Given the description of an element on the screen output the (x, y) to click on. 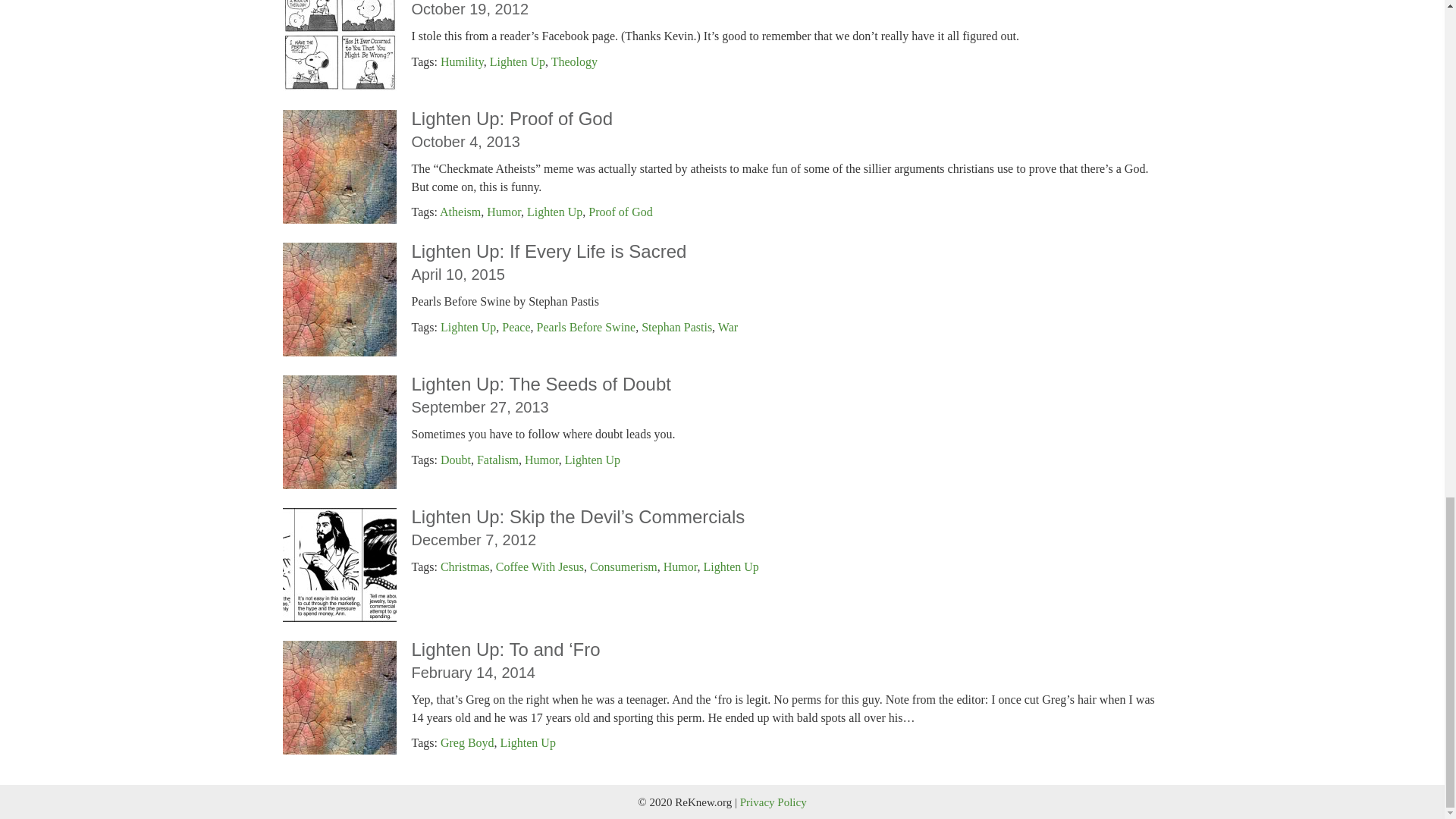
Humor (541, 459)
Greg Boyd (468, 742)
Stephan Pastis (676, 327)
Atheism (459, 211)
Lighten Up (730, 566)
Doubt (455, 459)
Theology (573, 61)
Consumerism (623, 566)
Lighten Up (468, 327)
Lighten Up (554, 211)
